Given the description of an element on the screen output the (x, y) to click on. 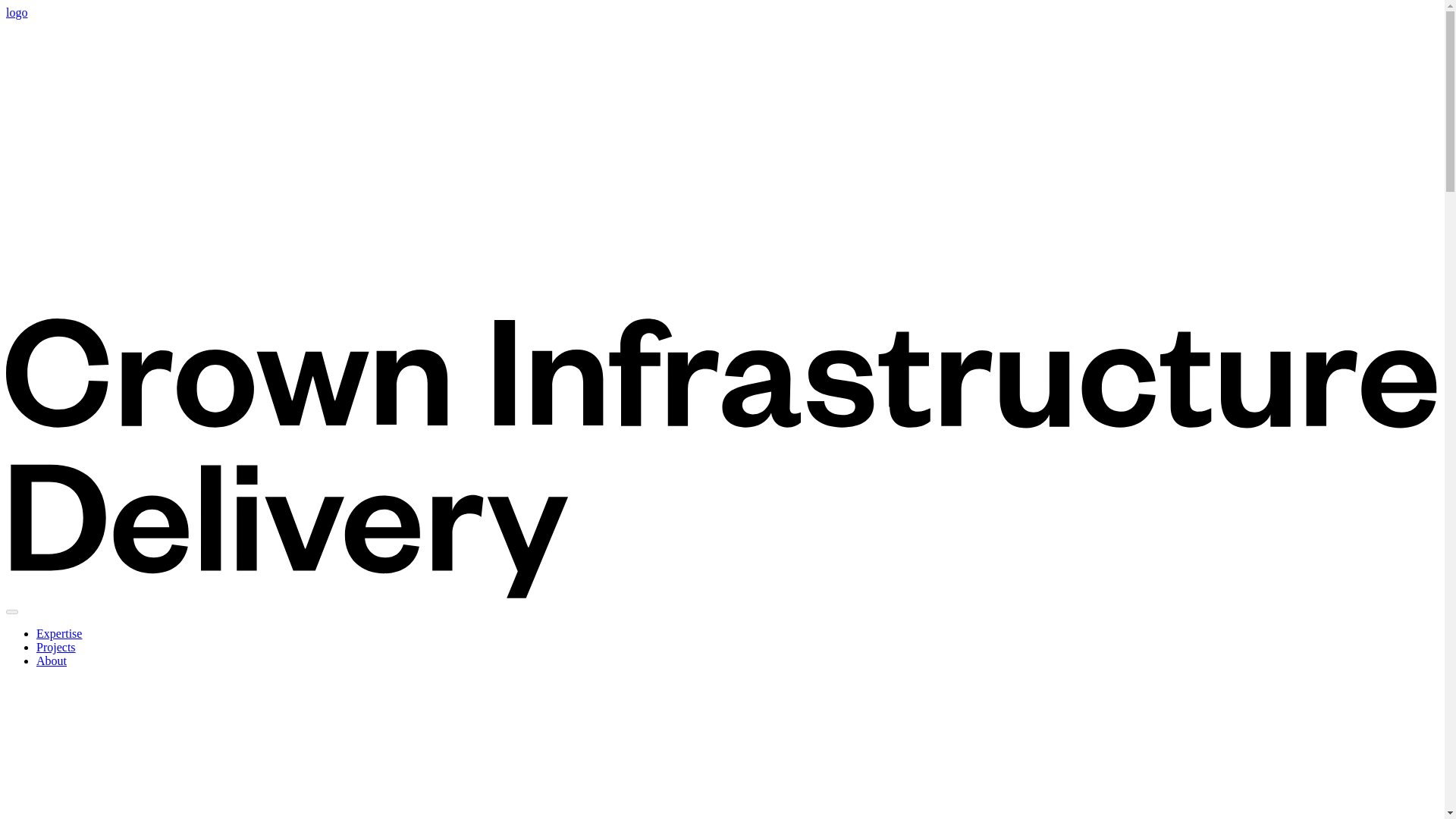
Projects (55, 646)
Expertise (58, 633)
About (51, 660)
